Given the description of an element on the screen output the (x, y) to click on. 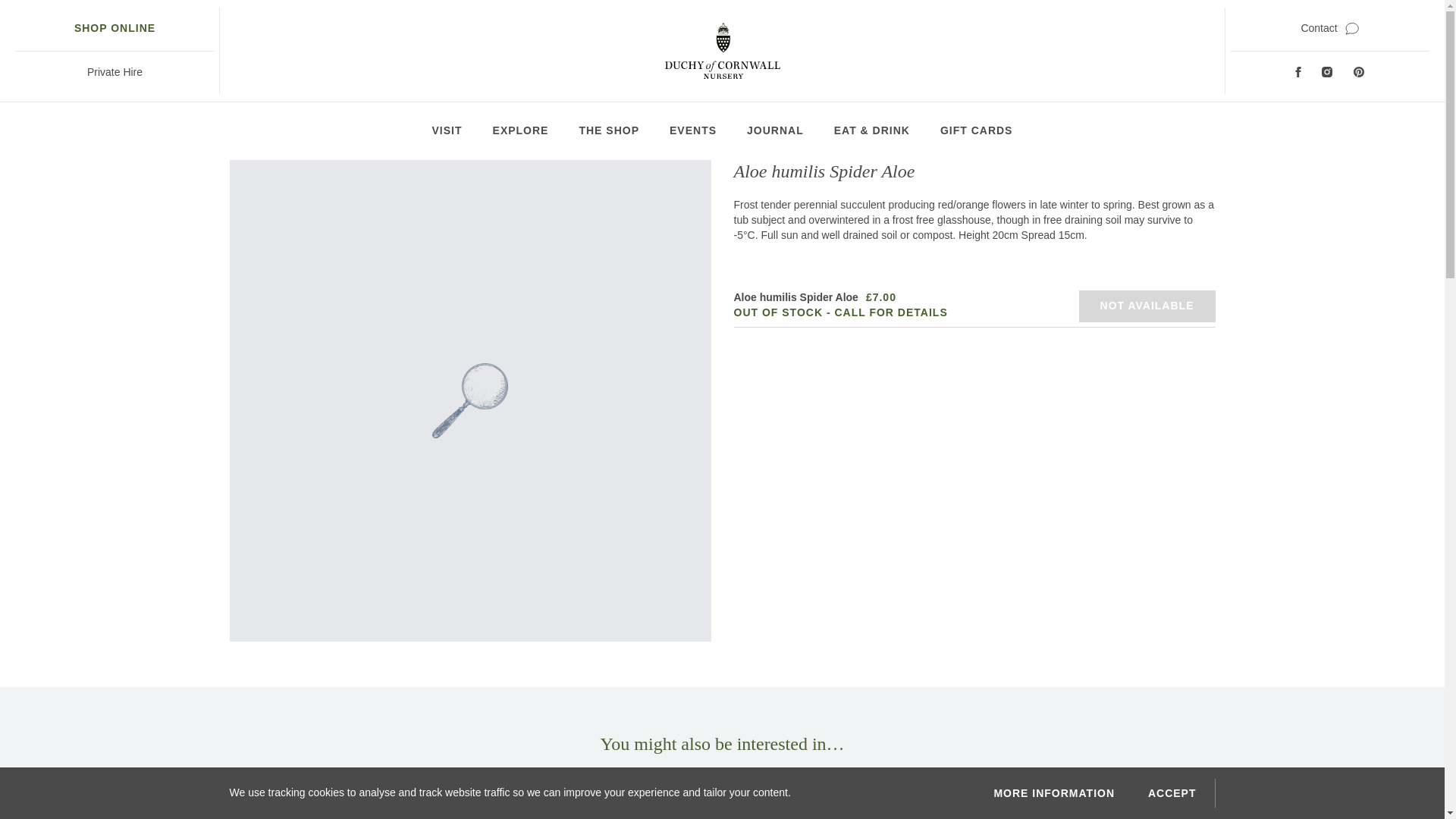
THE SHOP (608, 131)
Pinterest (1358, 72)
MORE INFORMATION (1053, 793)
CALL FOR DETAILS (890, 312)
EVENTS (692, 131)
SKIP TO MAIN CONTENT (33, 22)
VISIT (447, 131)
Private Hire (114, 72)
Facebook (1298, 72)
EXPLORE (520, 131)
JOURNAL (774, 131)
Contact (1329, 28)
GIFT CARDS (976, 131)
ACCEPT (1172, 792)
Instagram (1326, 72)
